Given the description of an element on the screen output the (x, y) to click on. 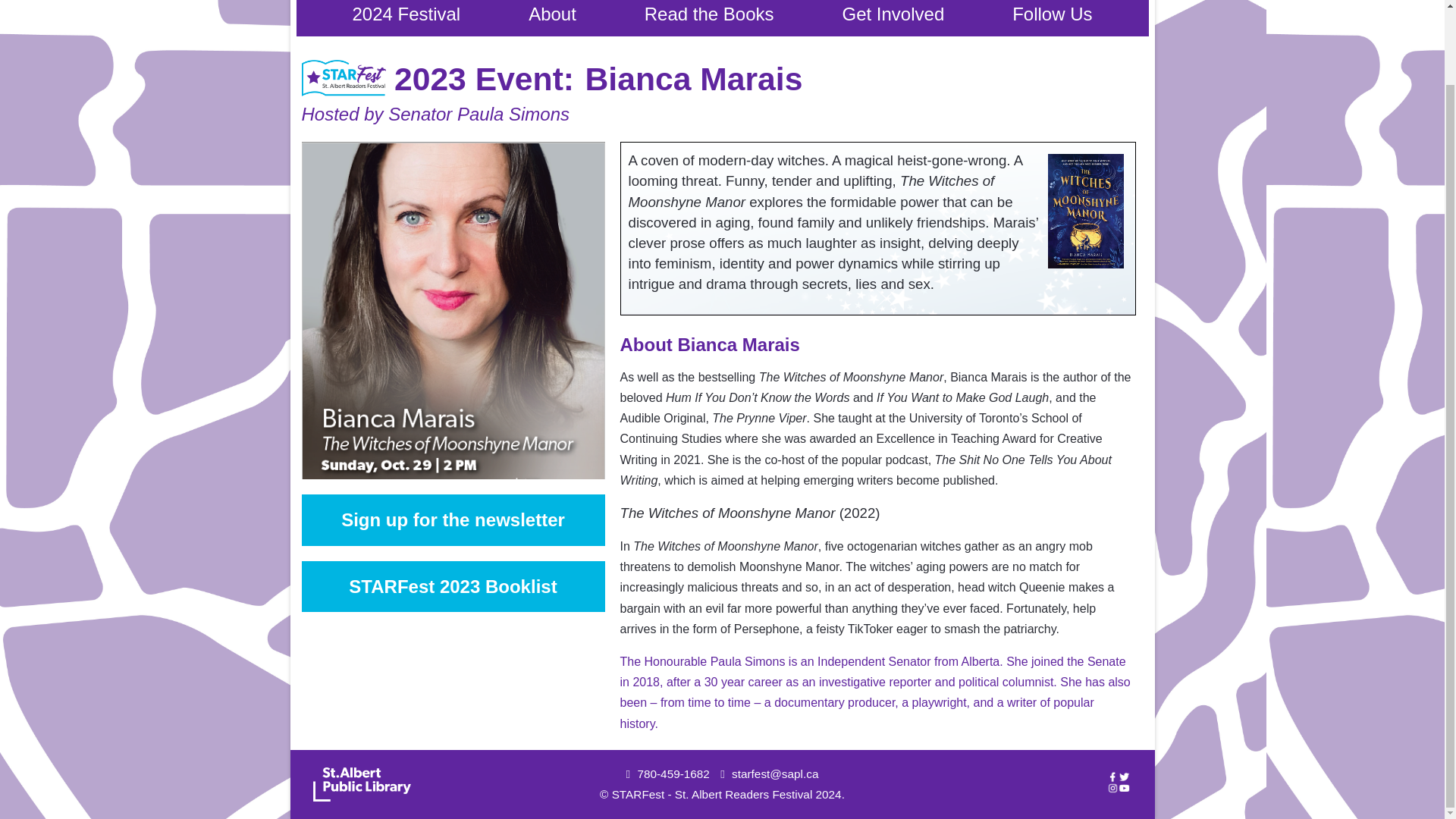
2024 Festival (405, 18)
Follow Us (1051, 18)
Read the Books (708, 18)
Get Involved (892, 18)
About (552, 18)
